Given the description of an element on the screen output the (x, y) to click on. 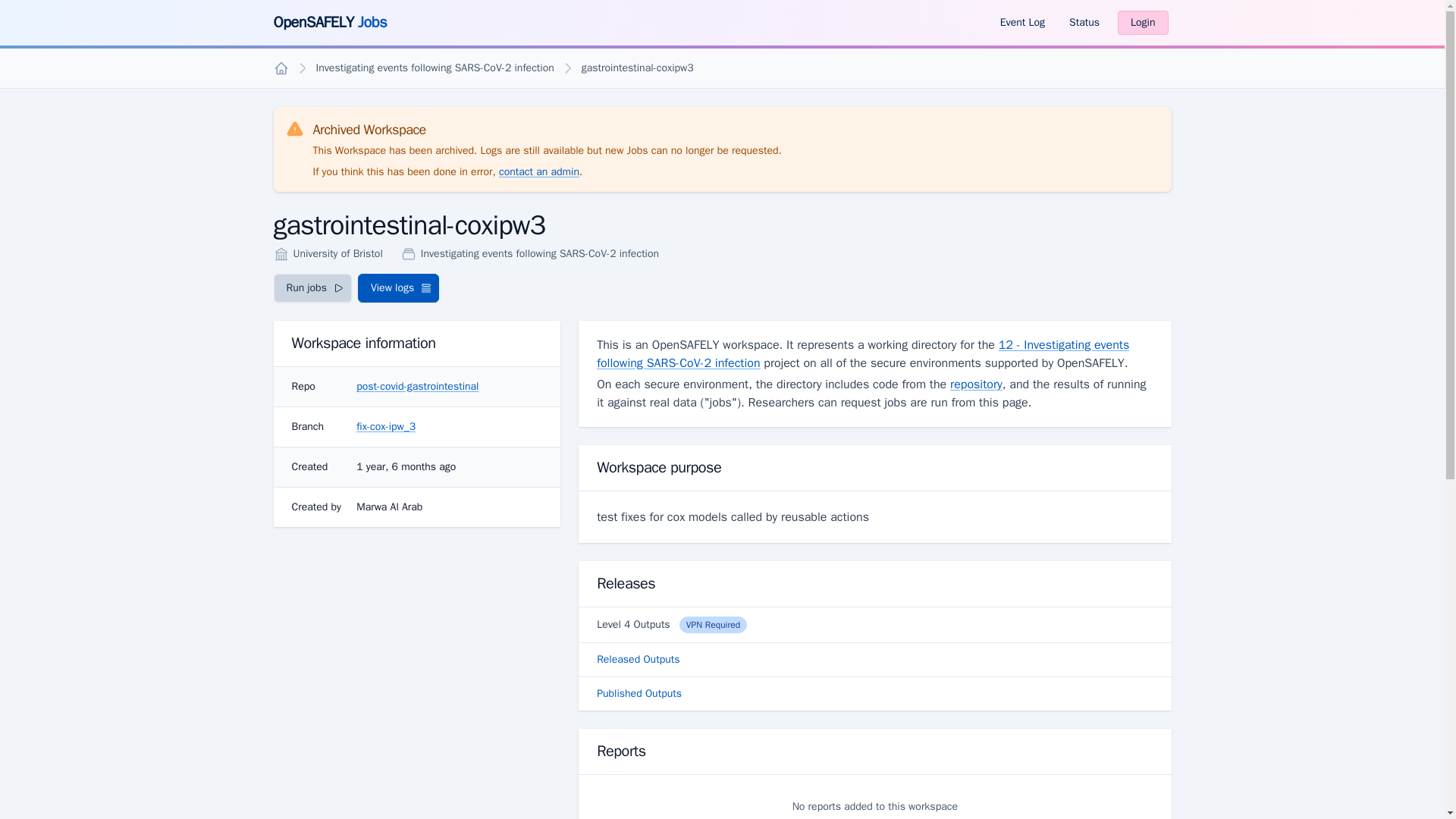
Status (1083, 22)
Run jobs (311, 287)
Investigating events following SARS-CoV-2 infection (433, 67)
Event Log (1022, 22)
repository (976, 384)
12 - Investigating events following SARS-CoV-2 infection (862, 354)
post-covid-gastrointestinal (417, 386)
Published Outputs (874, 693)
Released Outputs (874, 659)
contact an admin (539, 171)
